Given the description of an element on the screen output the (x, y) to click on. 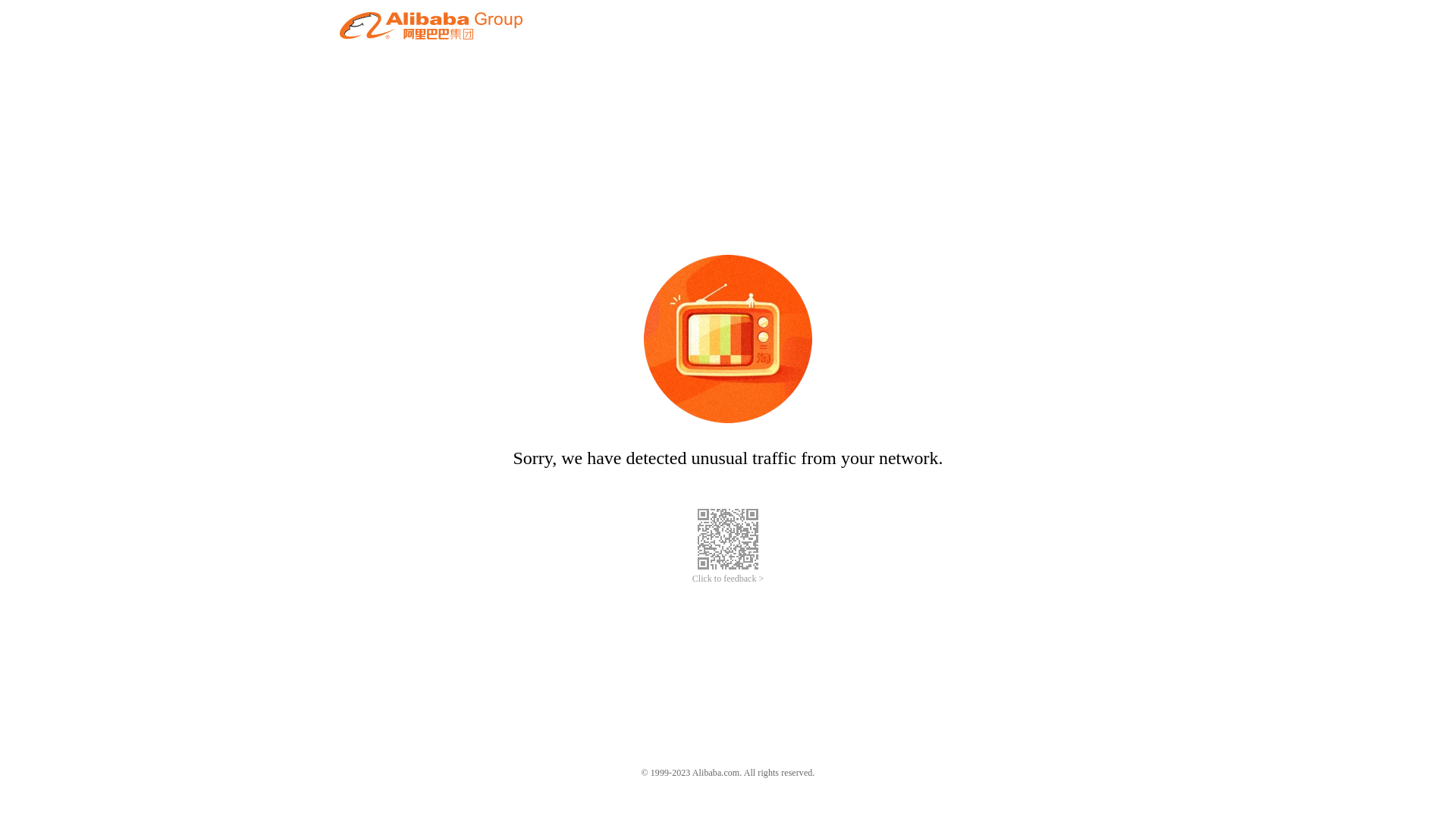
Click to feedback > Element type: text (727, 578)
